Given the description of an element on the screen output the (x, y) to click on. 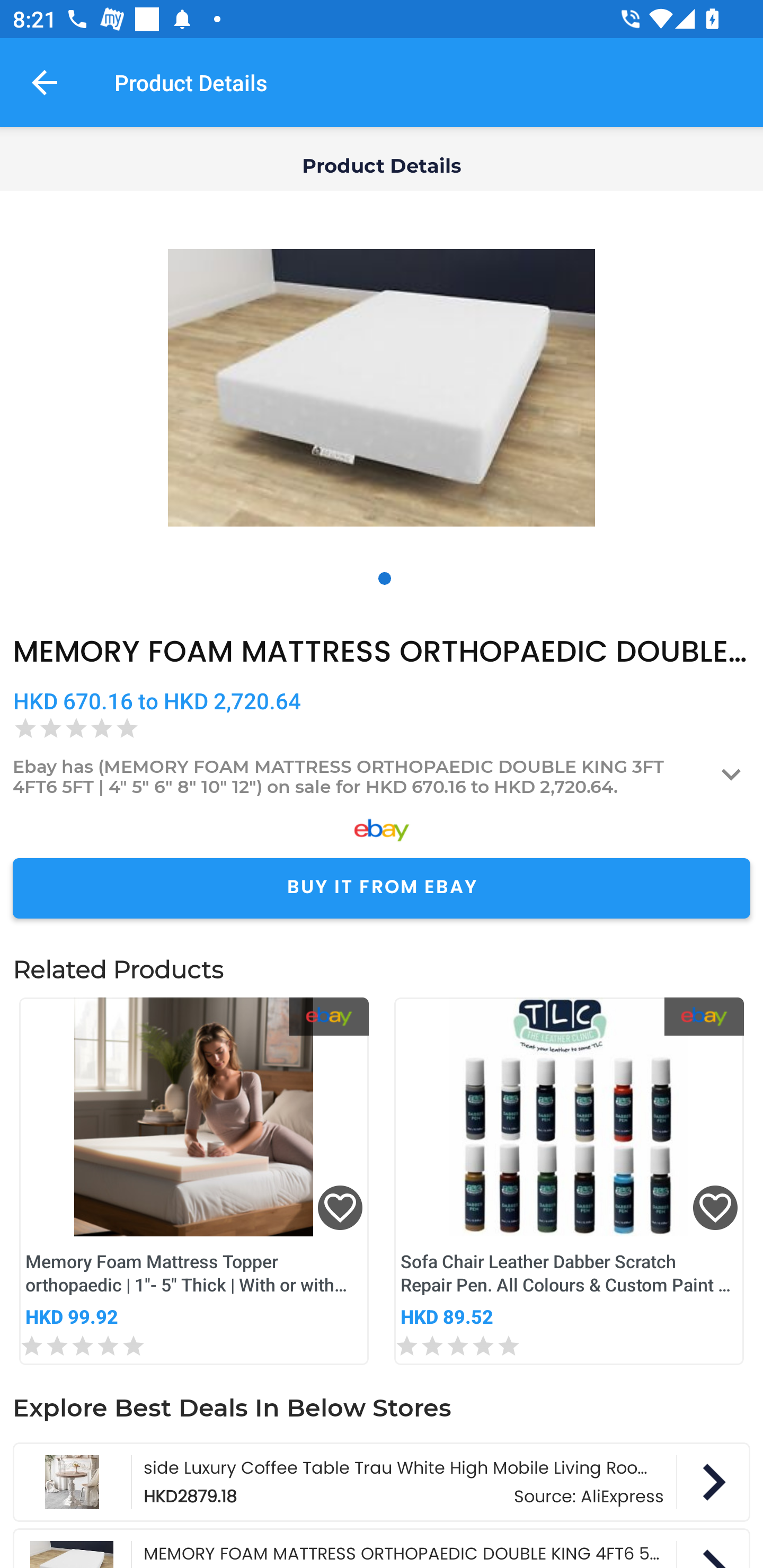
Navigate up (44, 82)
BUY IT FROM EBAY (381, 888)
